Given the description of an element on the screen output the (x, y) to click on. 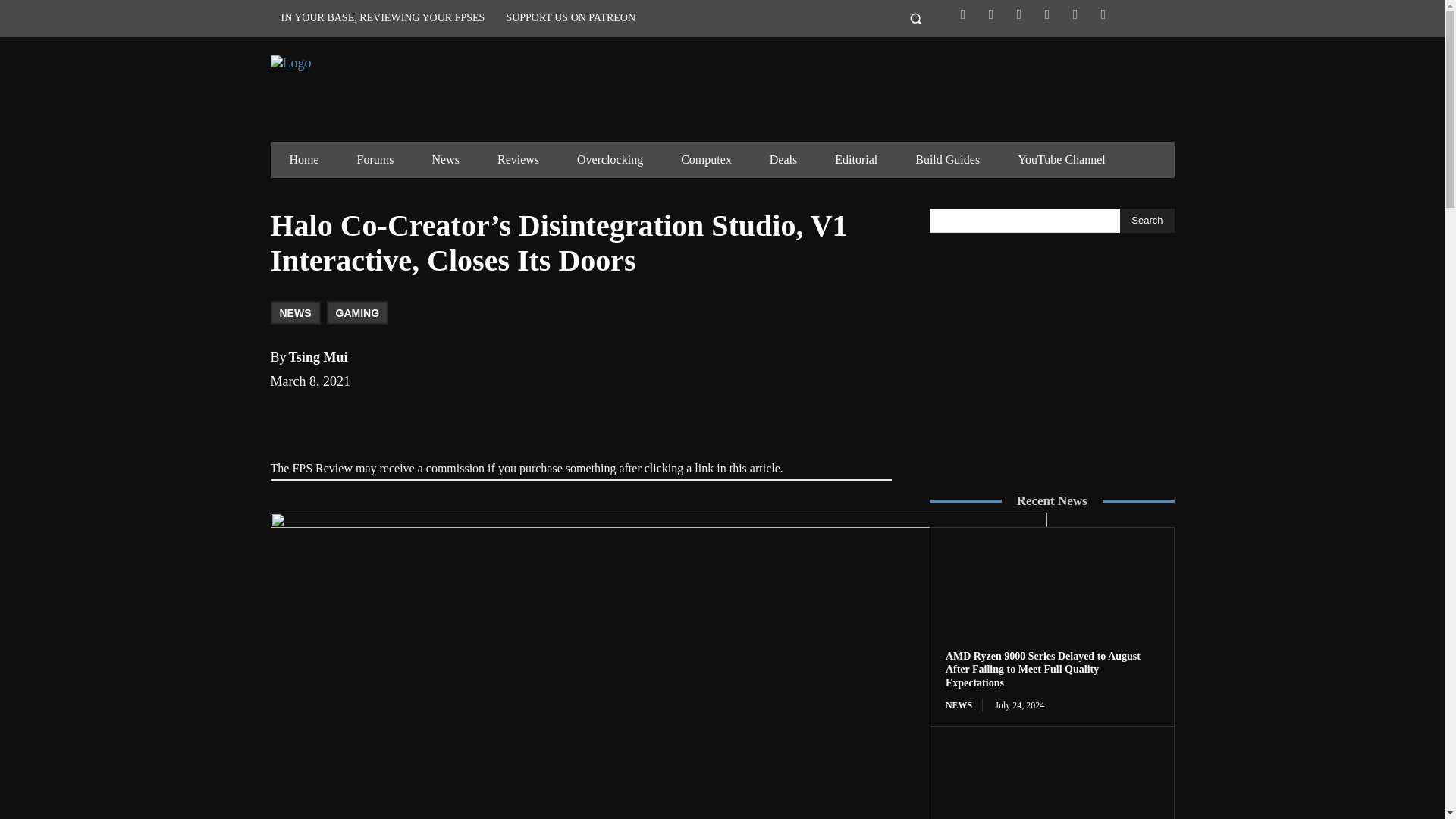
Flipboard (990, 13)
Facebook (962, 13)
Instagram (1019, 13)
